Given the description of an element on the screen output the (x, y) to click on. 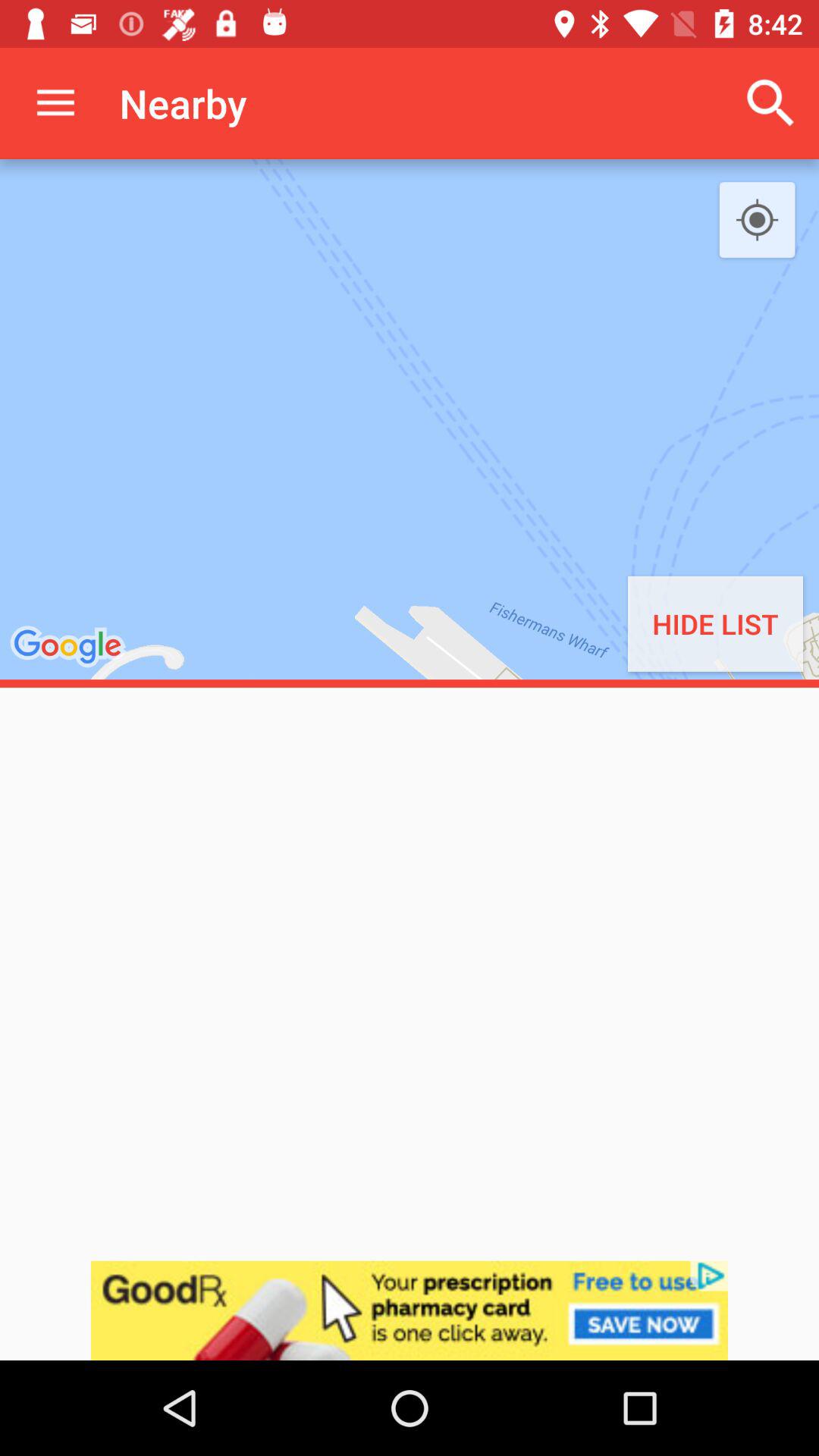
go to advertisement (409, 1310)
